Given the description of an element on the screen output the (x, y) to click on. 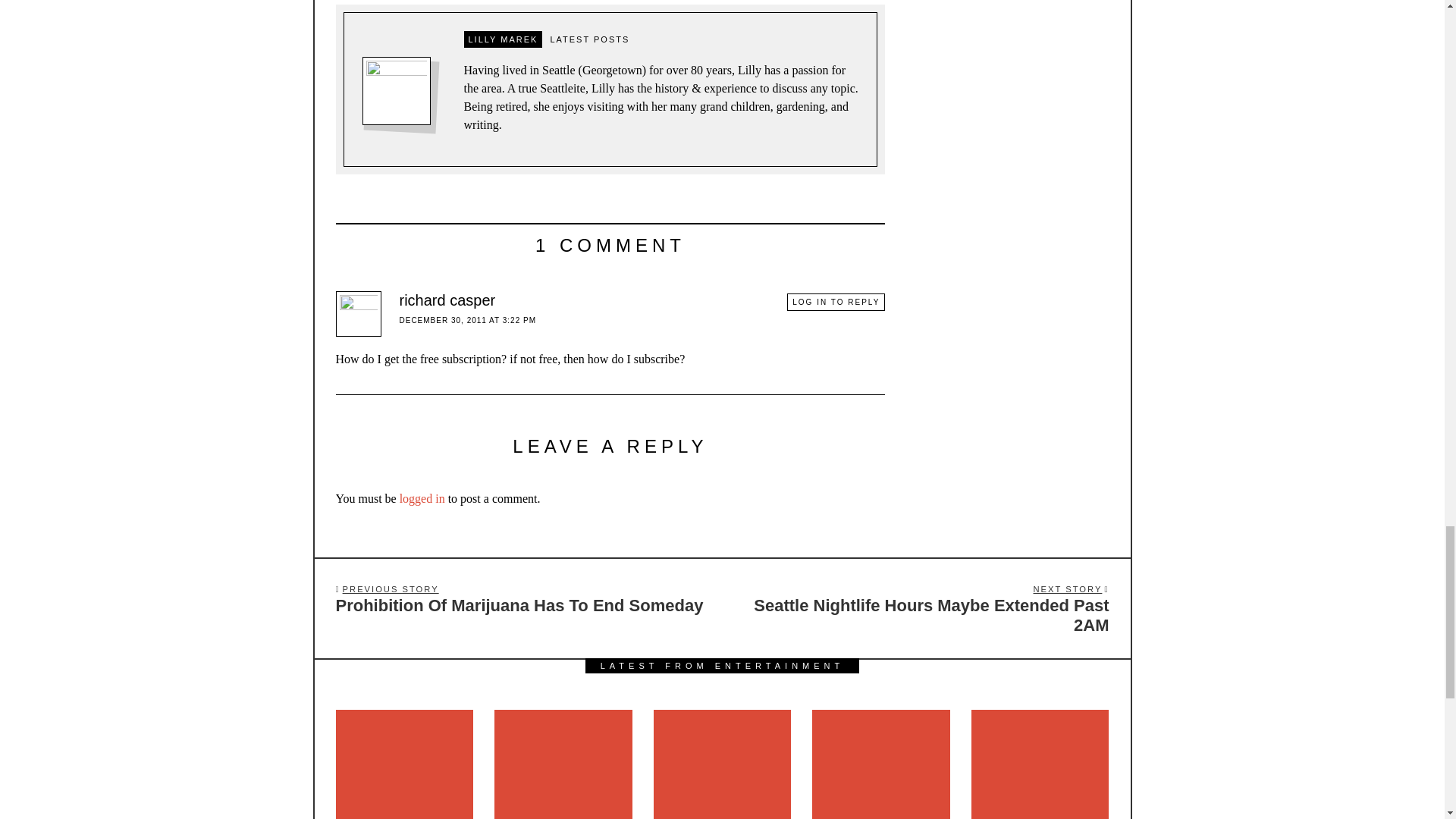
LILLY MAREK (503, 39)
LATEST POSTS (588, 39)
LOG IN TO REPLY (836, 302)
logged in (421, 498)
DECEMBER 30, 2011 AT 3:22 PM (466, 320)
